Given the description of an element on the screen output the (x, y) to click on. 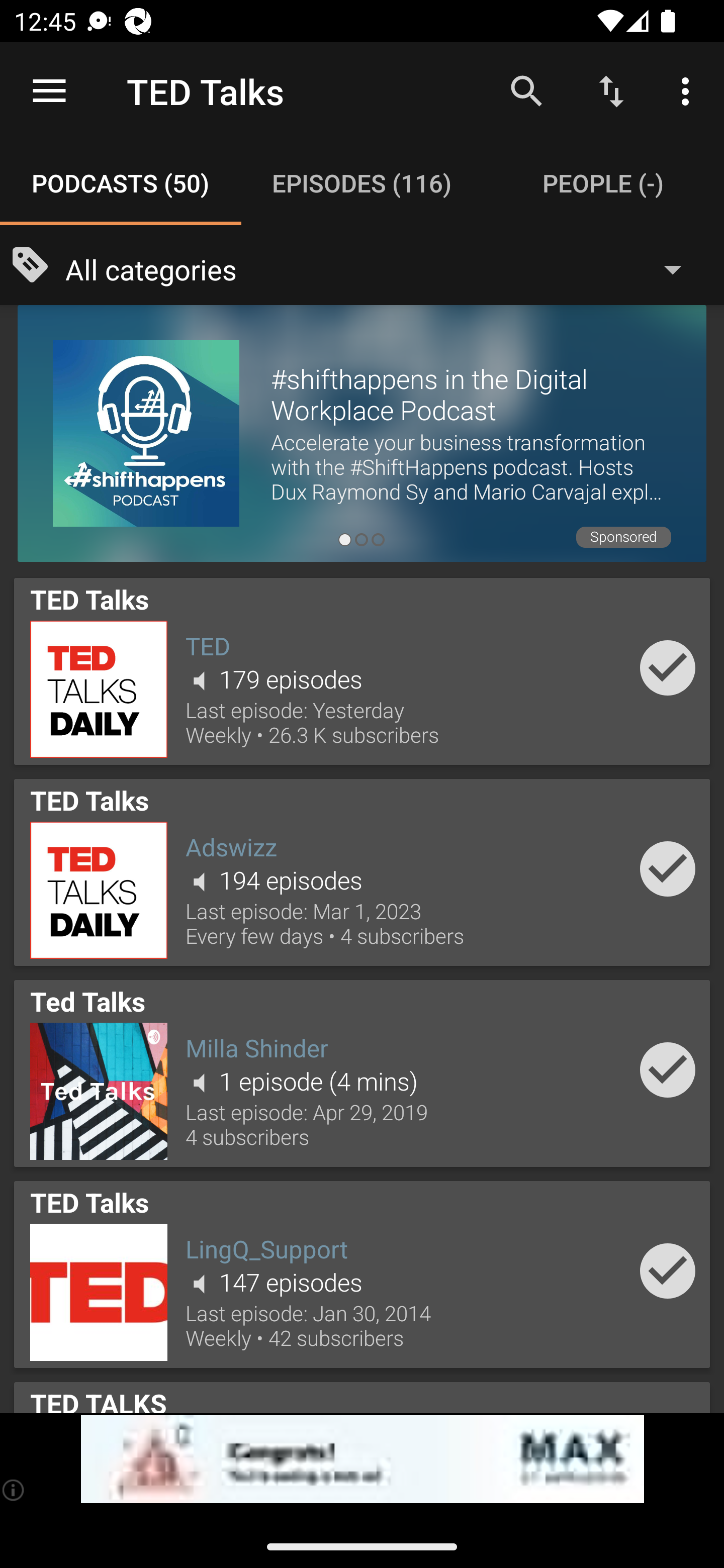
Open navigation sidebar (49, 91)
Search (526, 90)
Sort (611, 90)
More options (688, 90)
Episodes (116) EPISODES (116) (361, 183)
People (-) PEOPLE (-) (603, 183)
All categories (383, 268)
Add (667, 667)
Add (667, 868)
Add (667, 1069)
Add (667, 1271)
app-monetization (362, 1459)
(i) (14, 1489)
